Given the description of an element on the screen output the (x, y) to click on. 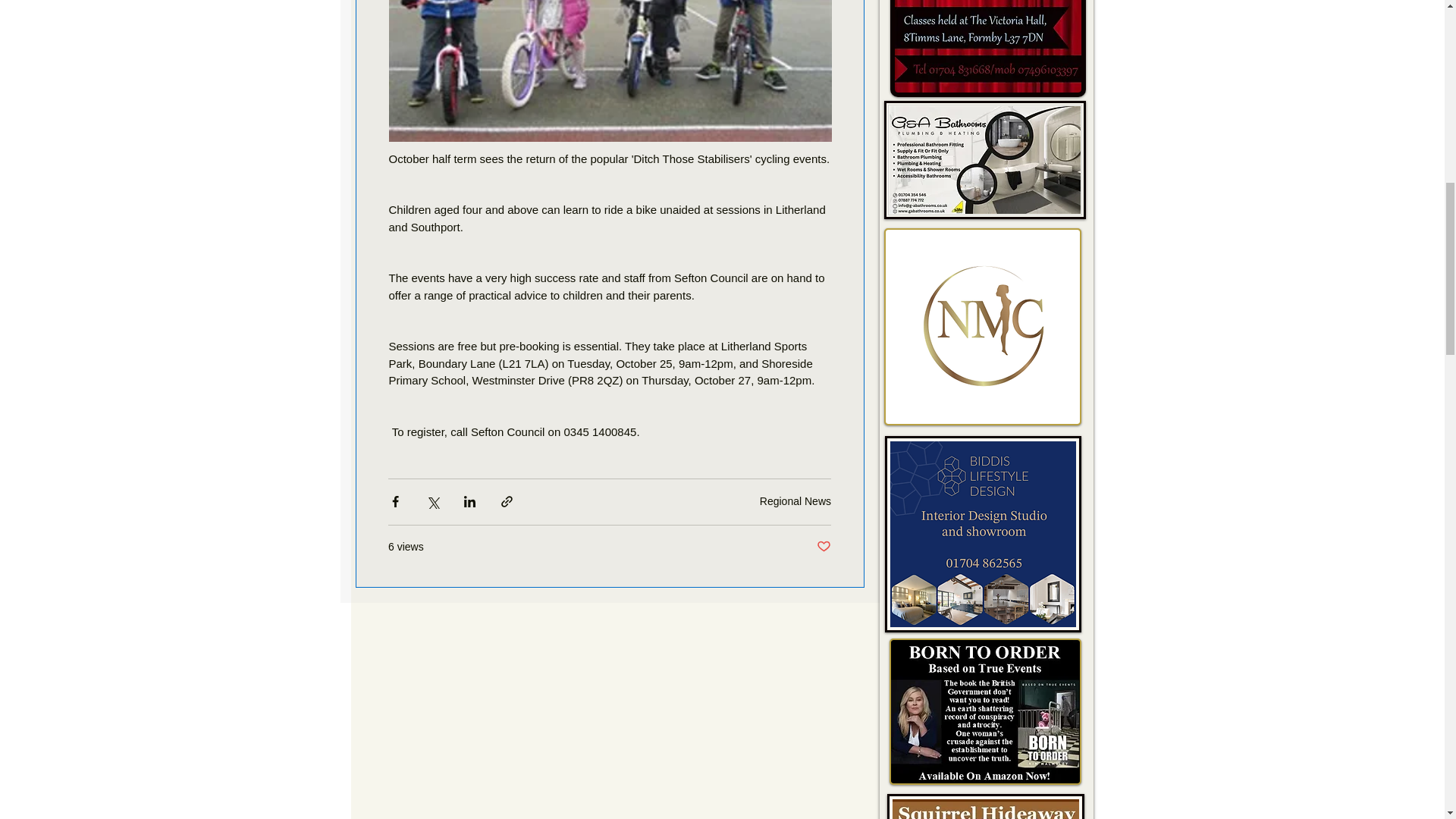
SWW Construction Formby (985, 806)
SWW Construction Formby (981, 533)
SWW Construction Formby (982, 326)
SWW Construction Formby (984, 711)
Formby School of Dancing and Performing  (987, 48)
